Given the description of an element on the screen output the (x, y) to click on. 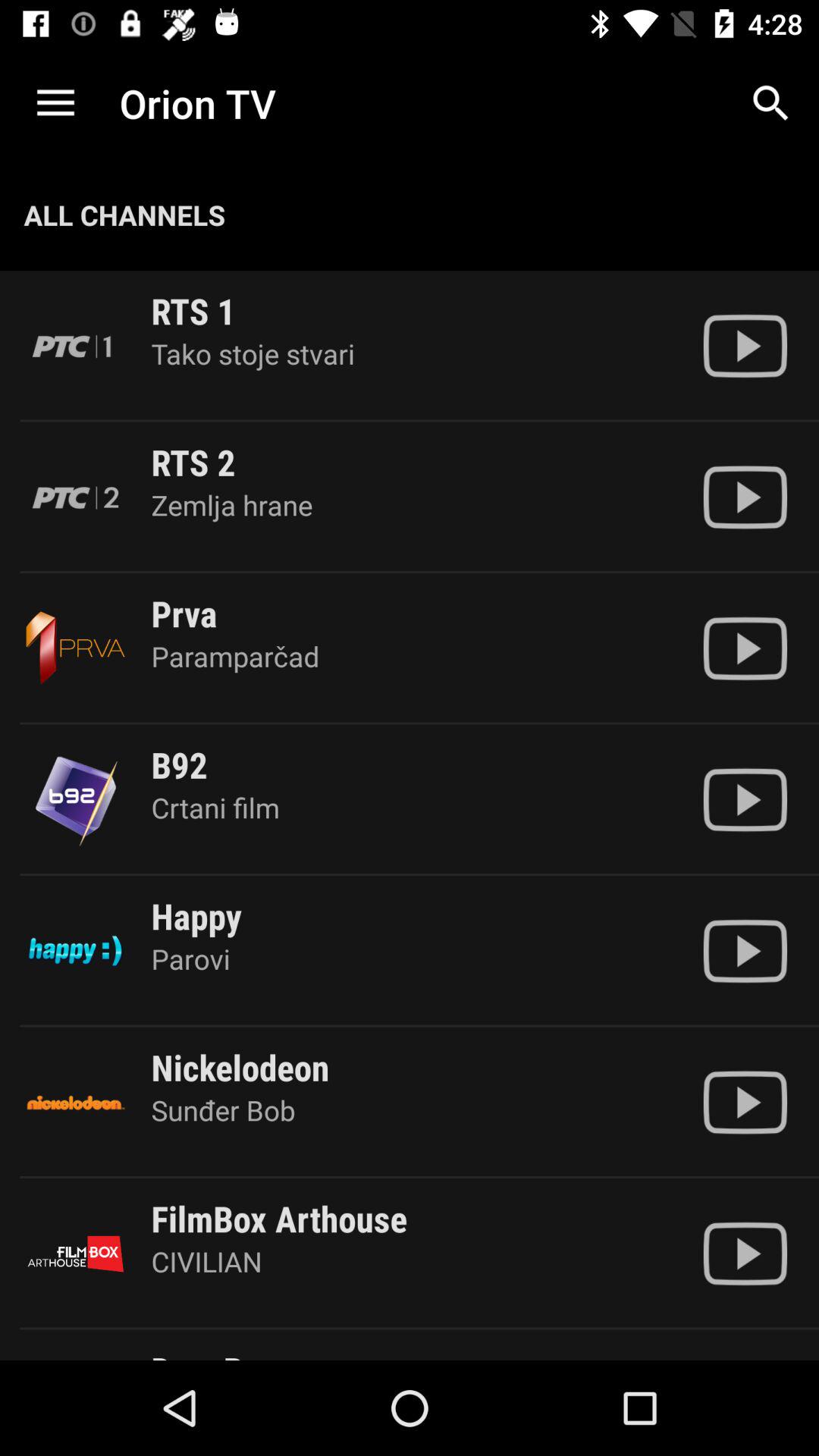
launch all channels icon (124, 214)
